Given the description of an element on the screen output the (x, y) to click on. 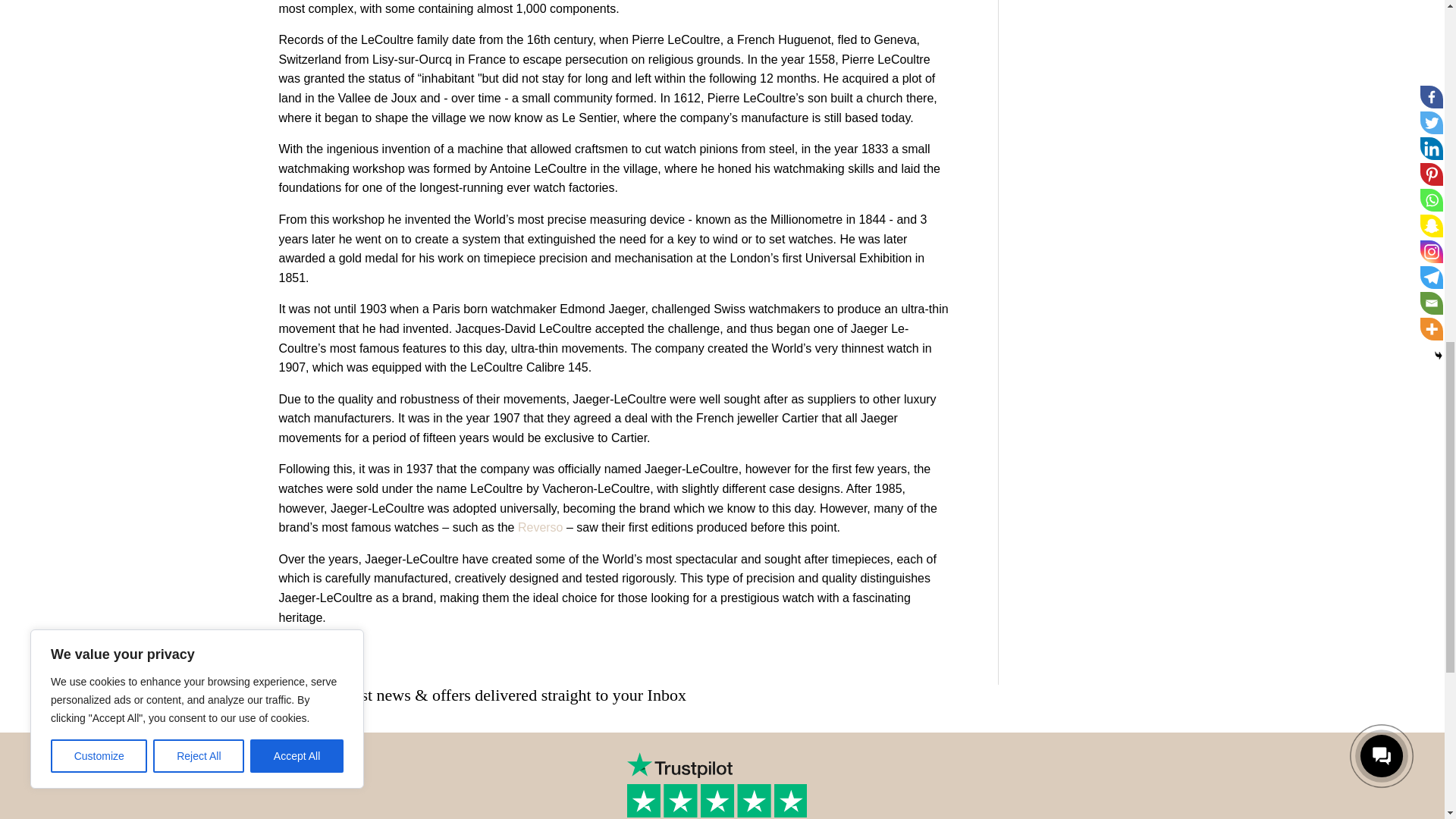
Customer reviews powered by Trustpilot (721, 785)
